Given the description of an element on the screen output the (x, y) to click on. 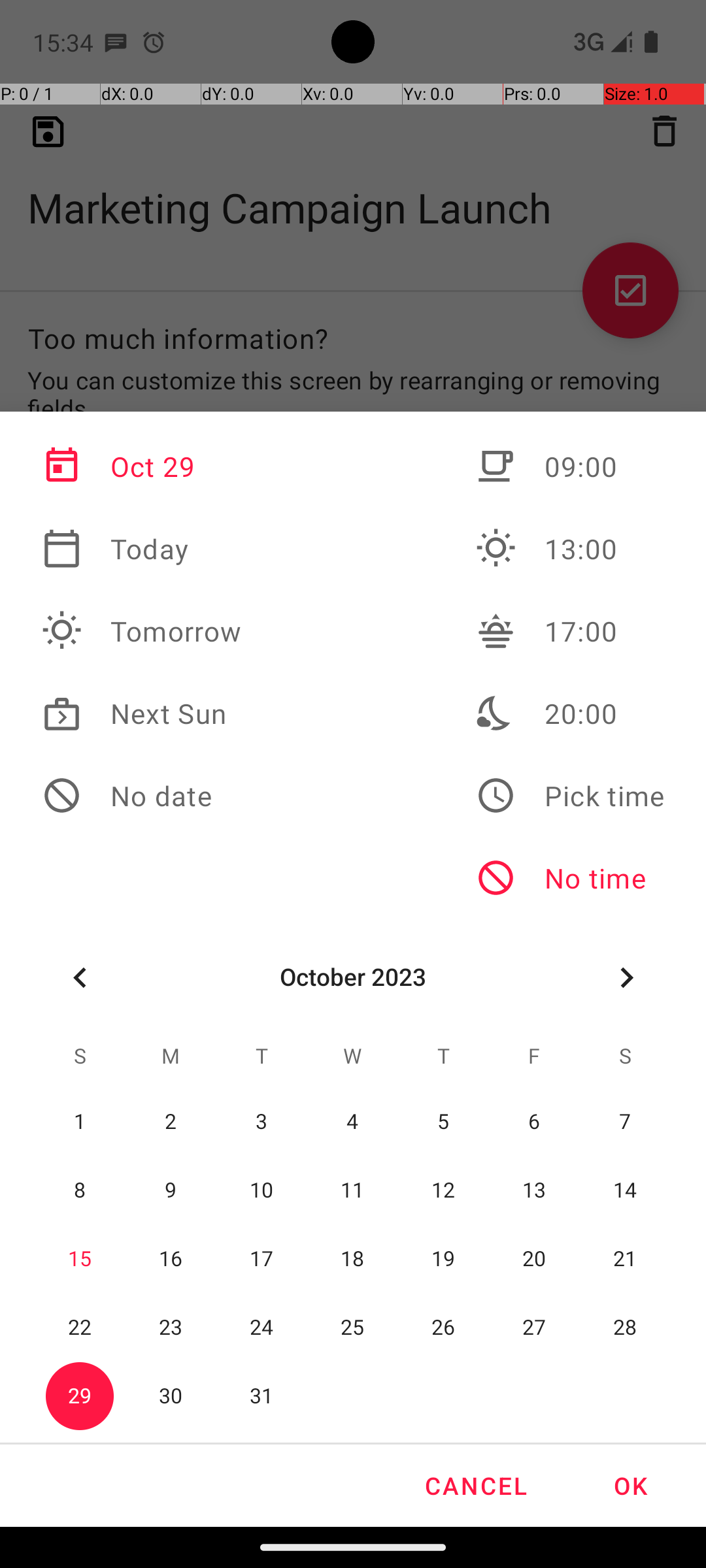
Oct 29 Element type: android.widget.CompoundButton (141, 466)
